Given the description of an element on the screen output the (x, y) to click on. 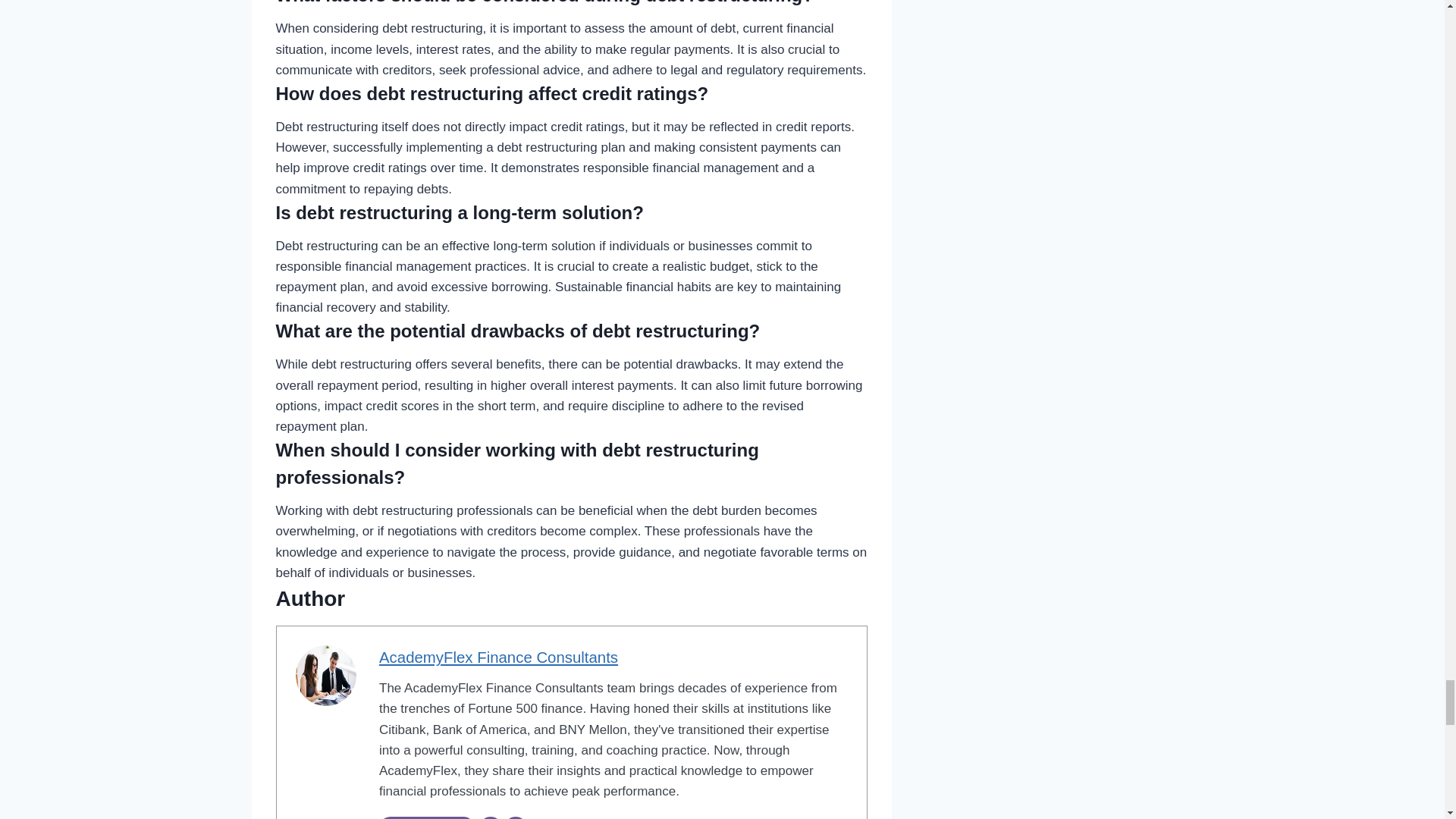
AcademyFlex Finance Consultants (497, 657)
View all posts (426, 817)
View all posts (426, 817)
AcademyFlex Finance Consultants (497, 657)
